Given the description of an element on the screen output the (x, y) to click on. 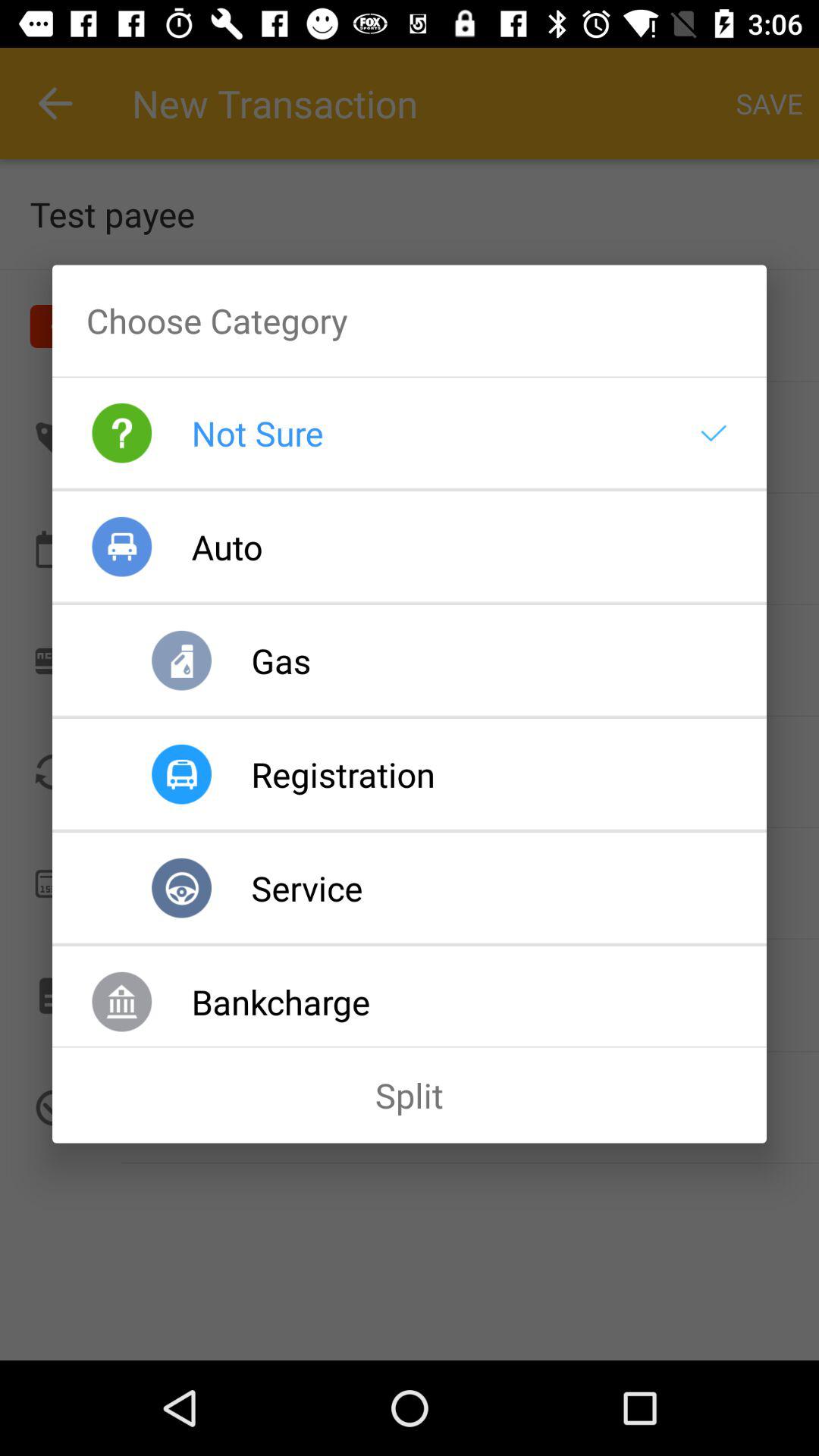
click split item (409, 1095)
